Given the description of an element on the screen output the (x, y) to click on. 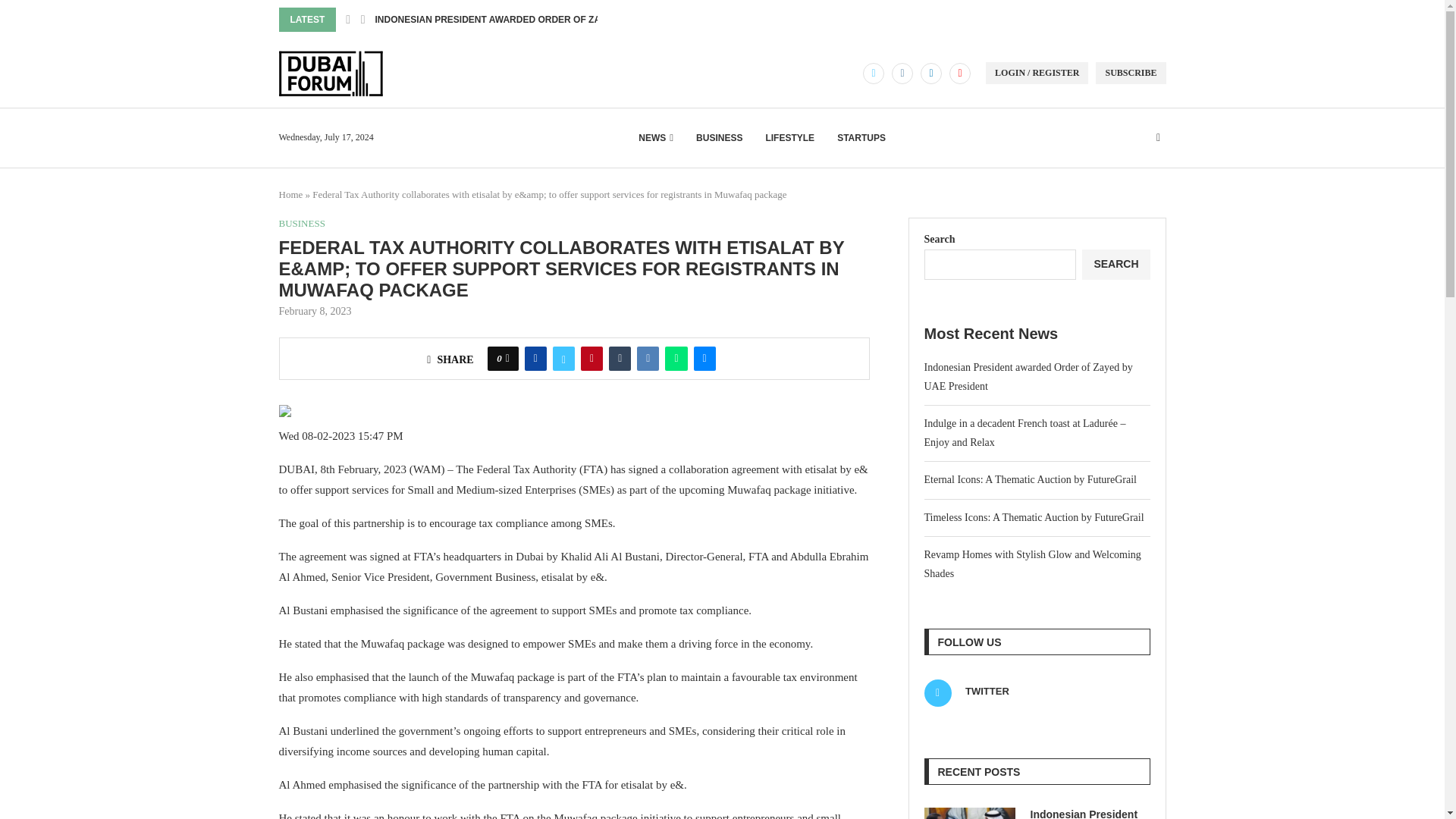
Indonesian President awarded Order of Zayed by UAE President (968, 813)
STARTUPS (861, 137)
BUSINESS (718, 137)
Indonesian President awarded Order of Zayed by UAE President (1089, 813)
INDONESIAN PRESIDENT AWARDED ORDER OF ZAYED BY UAE... (518, 19)
SUBSCRIBE (1131, 73)
LIFESTYLE (789, 137)
